Given the description of an element on the screen output the (x, y) to click on. 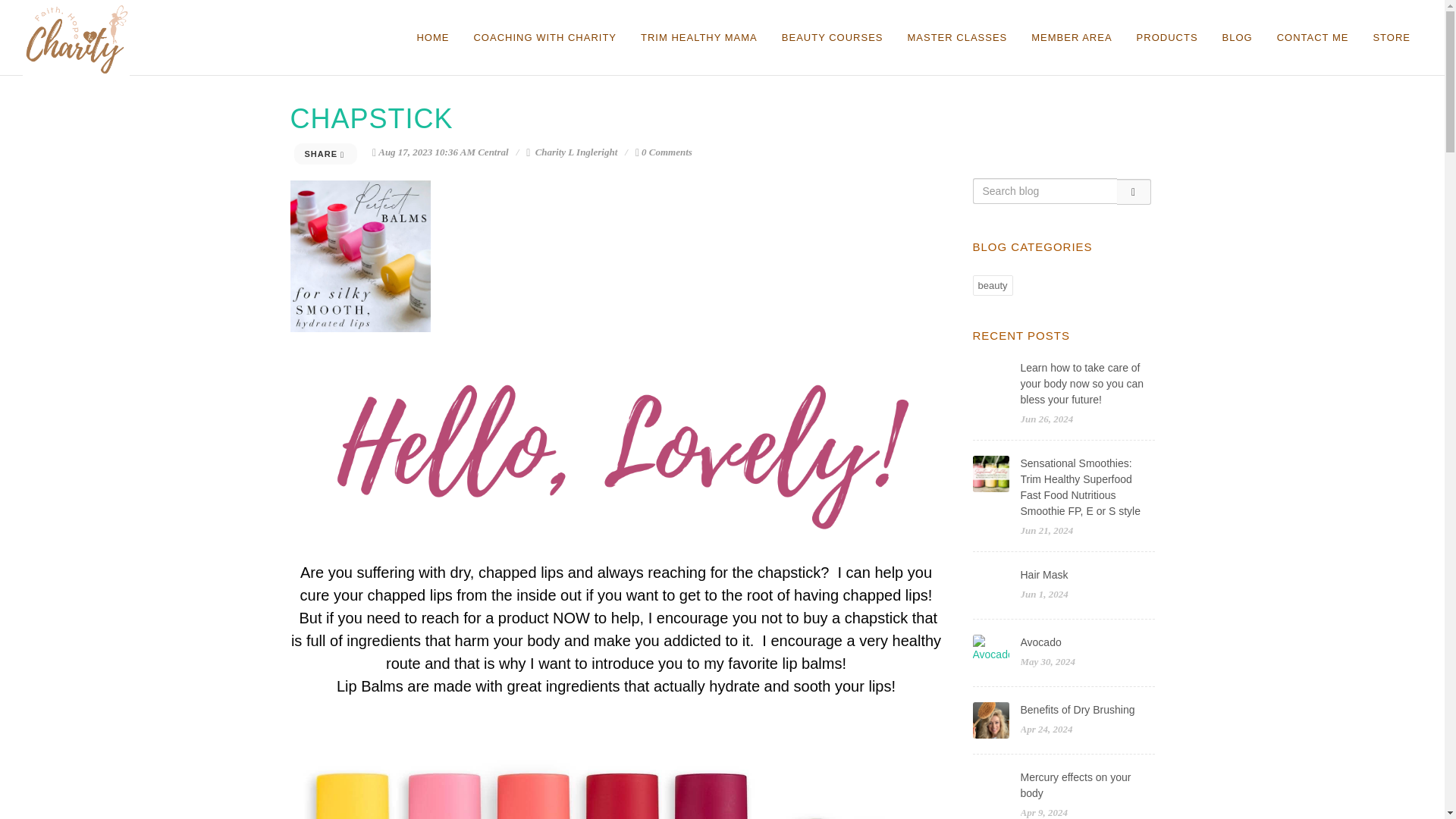
COACHING WITH CHARITY (544, 38)
PRODUCTS (1167, 38)
MASTER CLASSES (956, 38)
SHARE (326, 153)
CHAPSTICK (370, 118)
BEAUTY COURSES (832, 38)
TRIM HEALTHY MAMA (698, 38)
CONTACT ME (1312, 38)
MEMBER AREA (1071, 38)
